Given the description of an element on the screen output the (x, y) to click on. 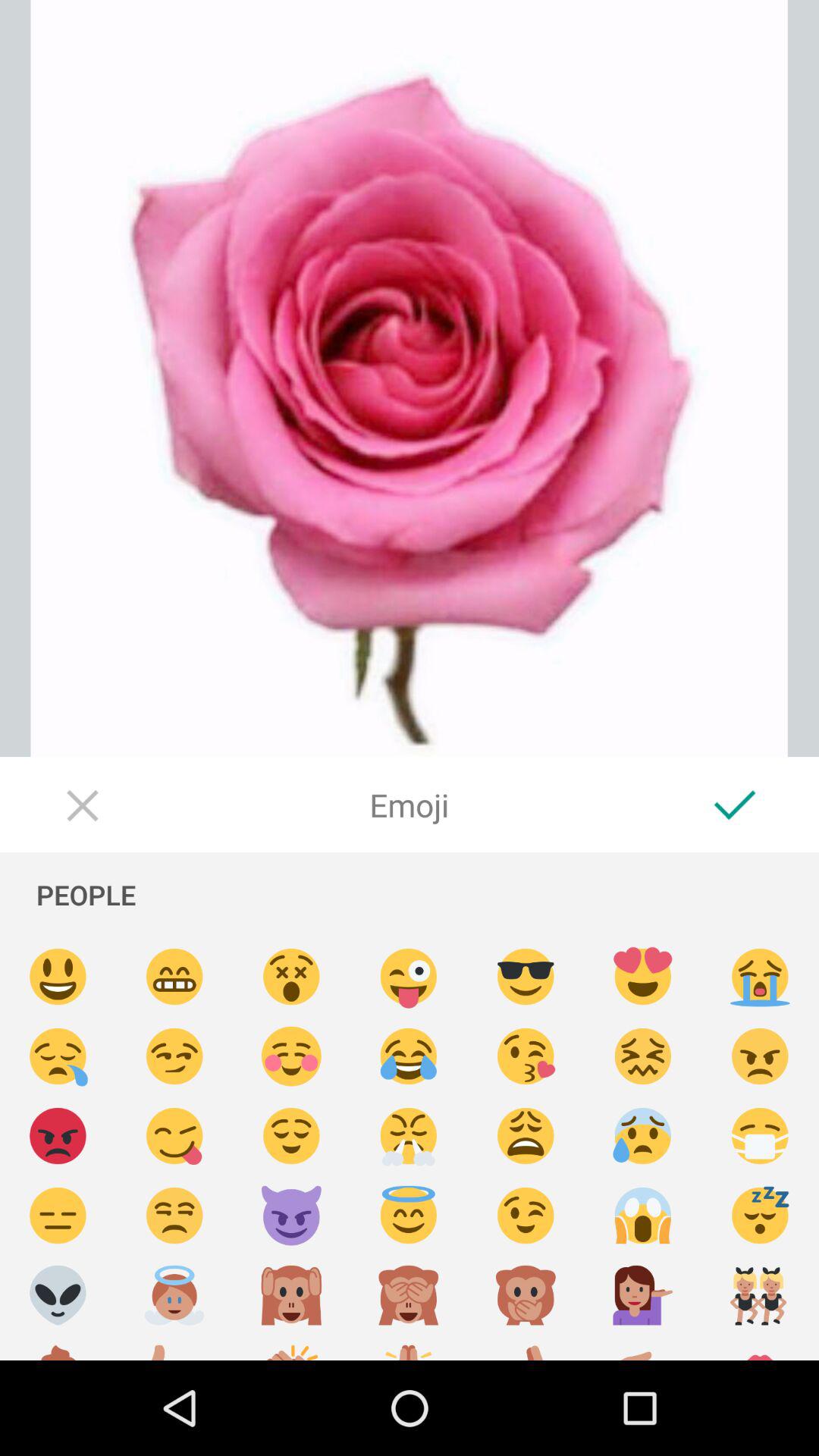
shock (642, 1215)
